Given the description of an element on the screen output the (x, y) to click on. 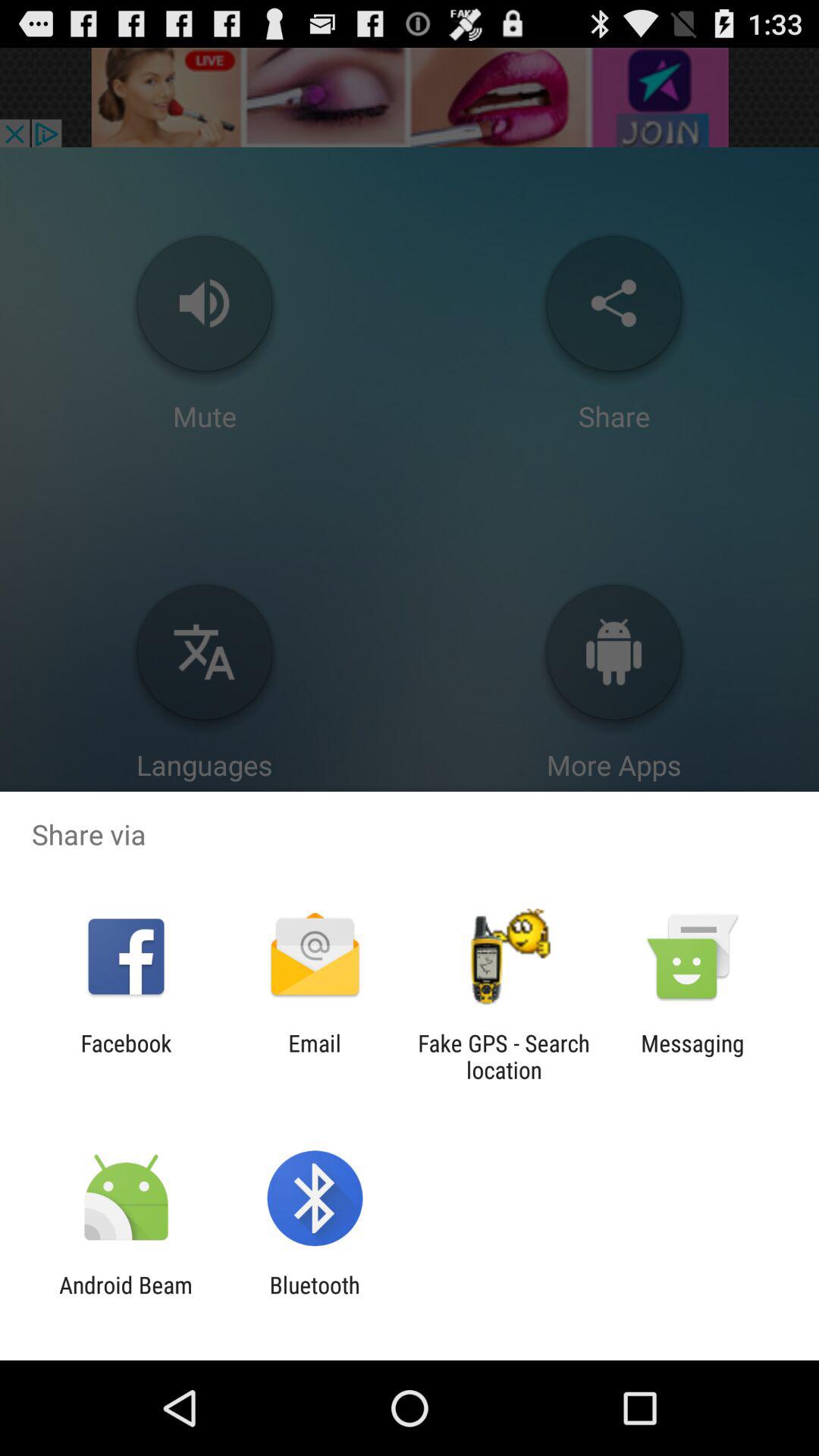
click the icon next to email (503, 1056)
